Given the description of an element on the screen output the (x, y) to click on. 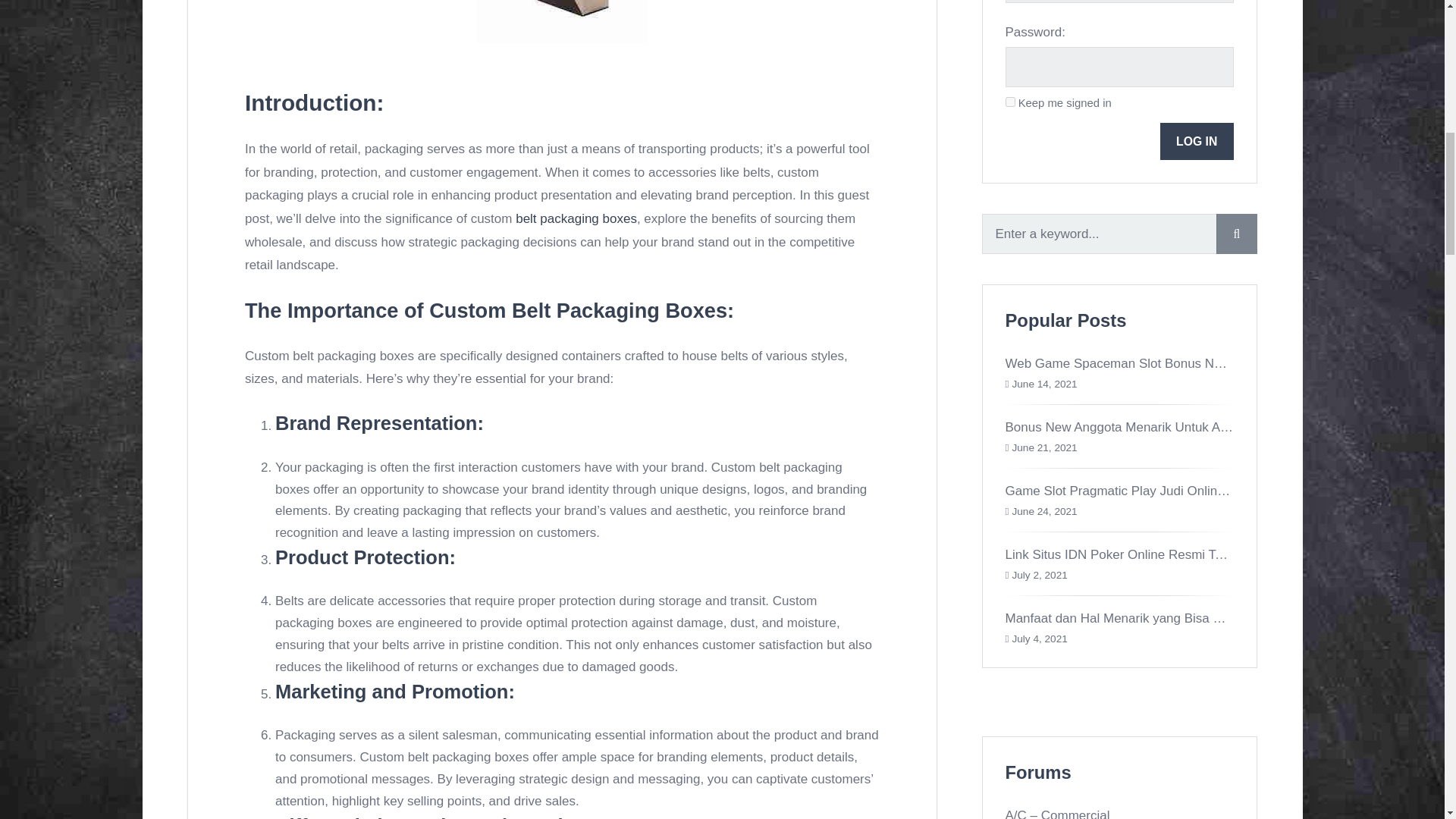
June 21, 2021 (1044, 447)
Bonus New Anggota Menarik Untuk Anggota Baru (1148, 427)
July 2, 2021 (1039, 574)
June 14, 2021 (1044, 383)
belt packaging boxes (576, 218)
Web Game Spaceman Slot Bonus New Anggota 100 di Depan (1183, 363)
June 24, 2021 (1044, 511)
forever (1010, 102)
Link Situs IDN Poker Online Resmi Terbaik dan Terpercaya (1174, 554)
July 4, 2021 (1039, 638)
LOG IN (1196, 140)
